Given the description of an element on the screen output the (x, y) to click on. 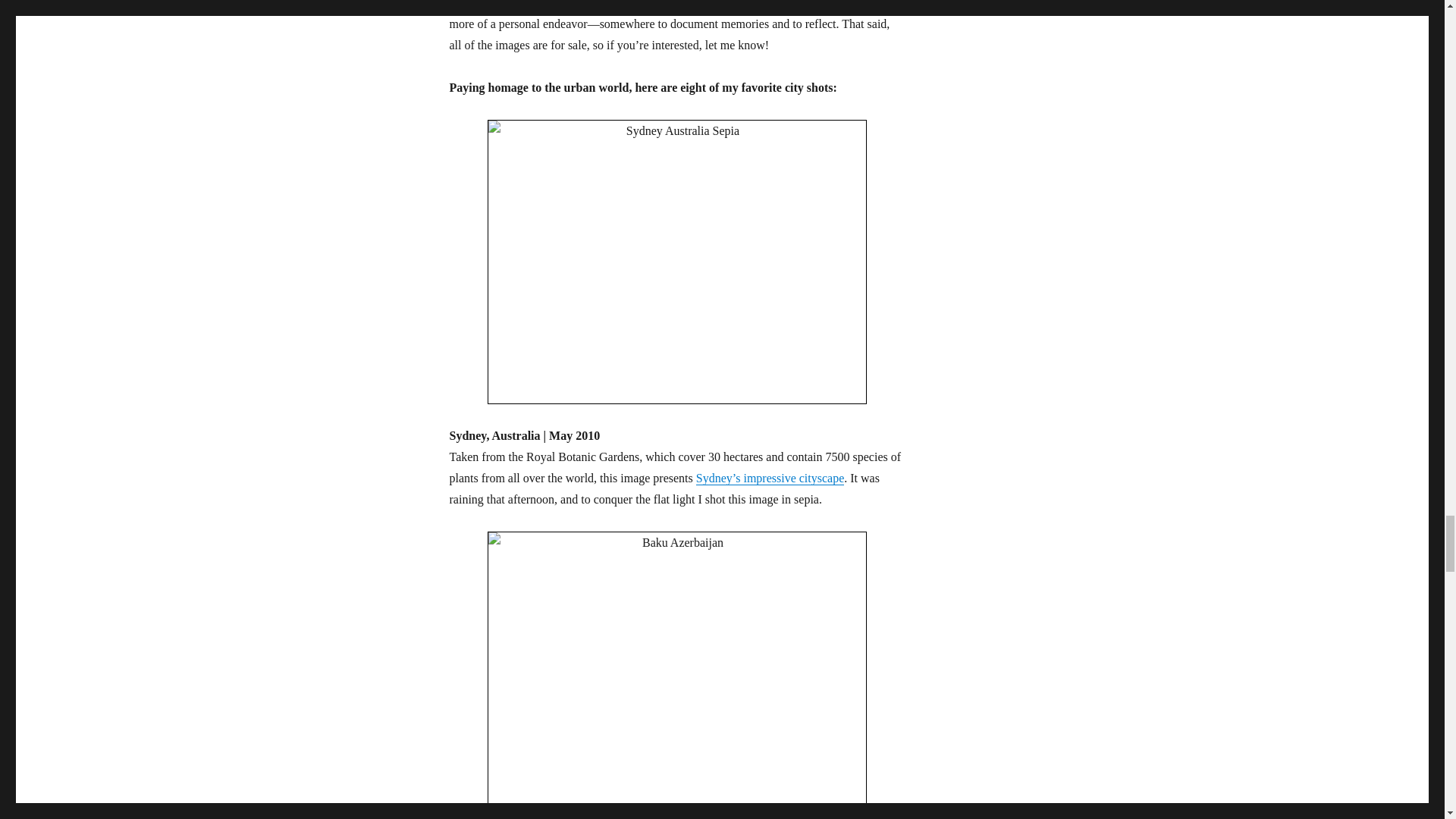
Baku Azerbaijan (676, 673)
Sydney Australia Sepia (676, 261)
